Given the description of an element on the screen output the (x, y) to click on. 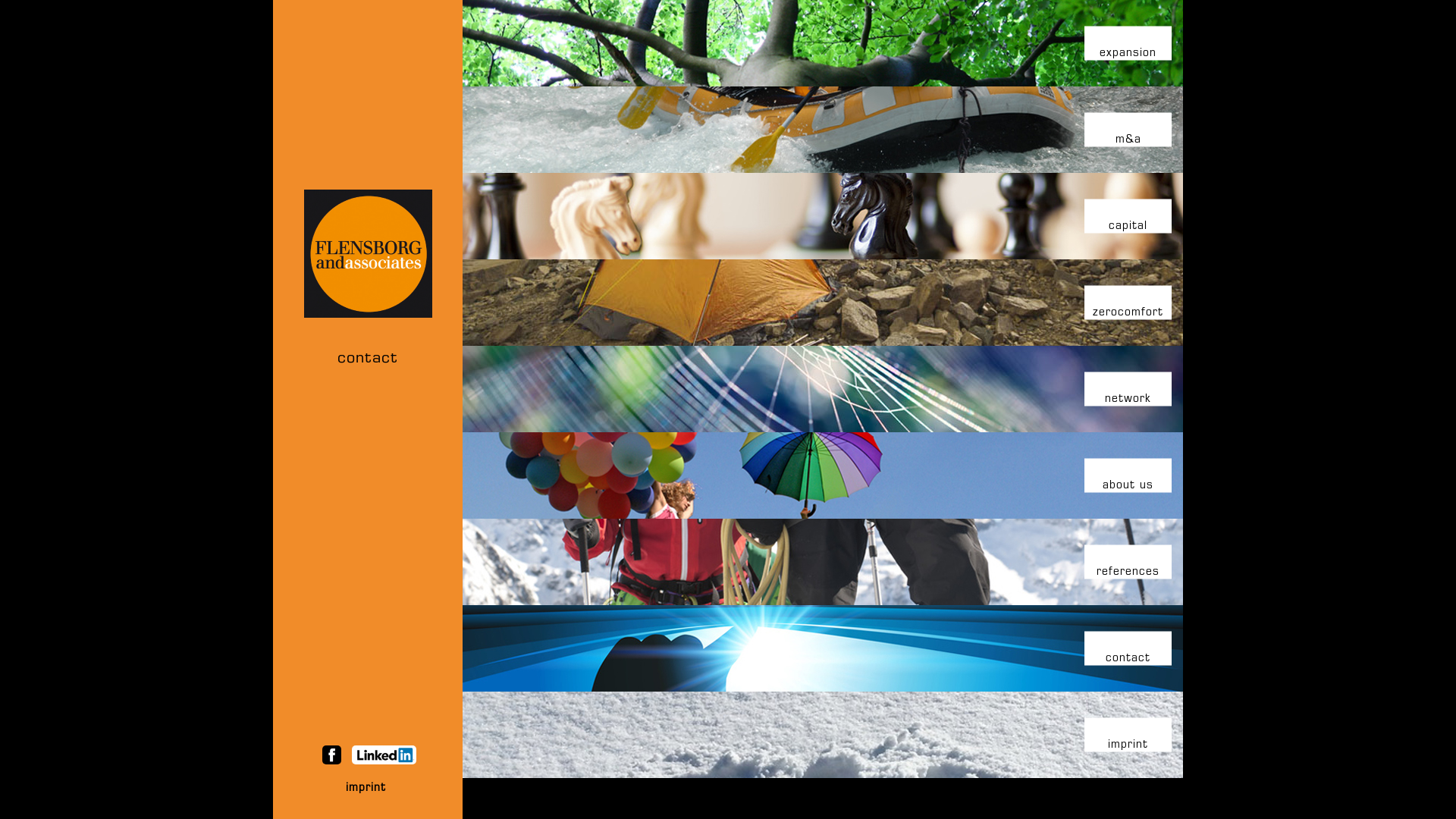
references Element type: text (1127, 572)
network Element type: text (1127, 399)
imprint Element type: text (365, 788)
contact Element type: text (1127, 658)
zerocomfort Element type: text (1127, 312)
about us Element type: text (1127, 485)
m&a Element type: text (1127, 139)
imprint Element type: text (1127, 745)
contact Element type: text (367, 359)
capital Element type: text (1127, 226)
expansion Element type: text (1127, 53)
